Given the description of an element on the screen output the (x, y) to click on. 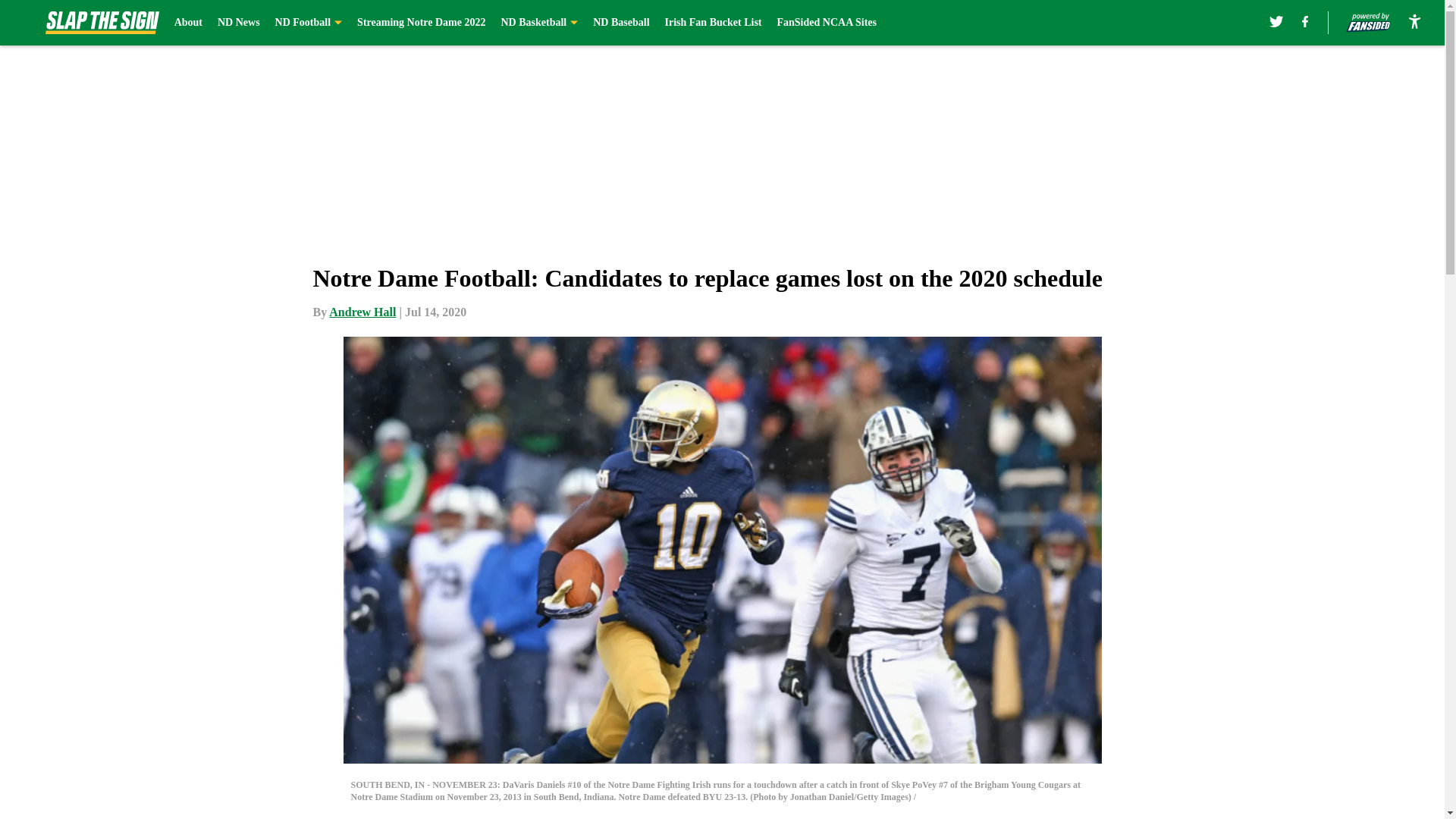
ND News (238, 22)
Streaming Notre Dame 2022 (420, 22)
Andrew Hall (362, 311)
FanSided NCAA Sites (826, 22)
ND Baseball (620, 22)
About (188, 22)
Irish Fan Bucket List (713, 22)
